Given the description of an element on the screen output the (x, y) to click on. 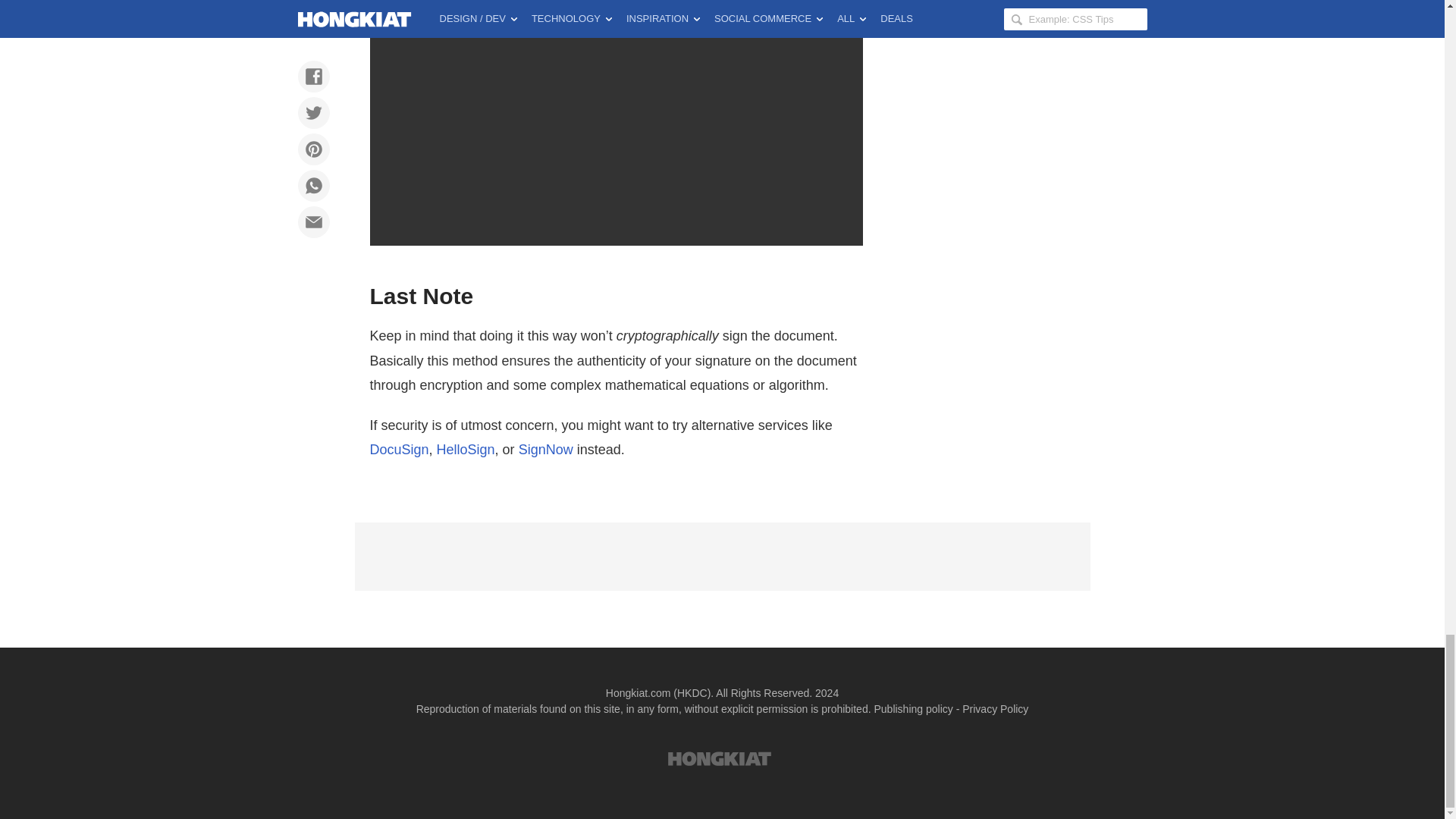
HelloSign (465, 449)
SignNow (545, 449)
DocuSign (399, 449)
